Given the description of an element on the screen output the (x, y) to click on. 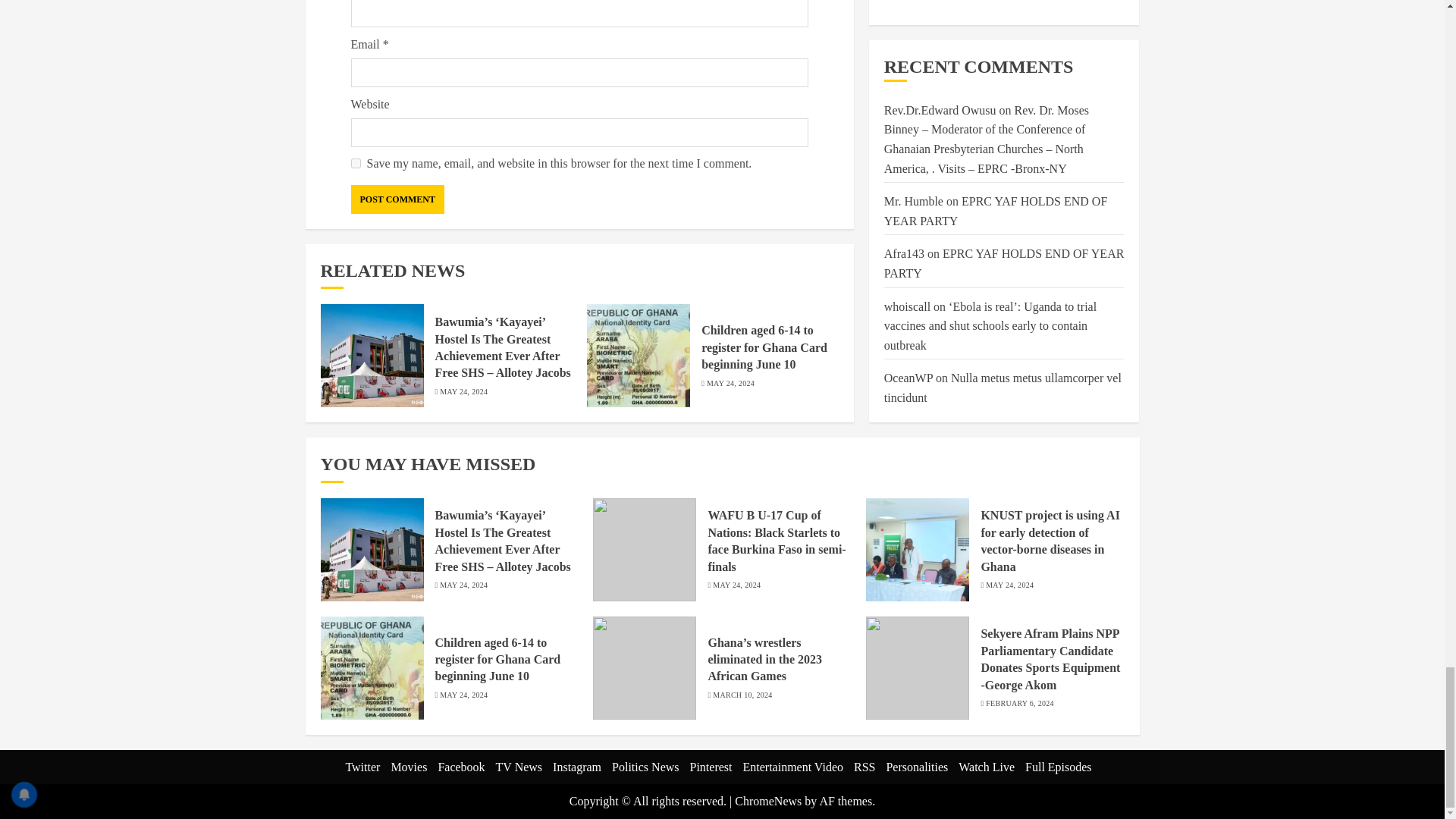
yes (354, 163)
Post Comment (397, 199)
